Given the description of an element on the screen output the (x, y) to click on. 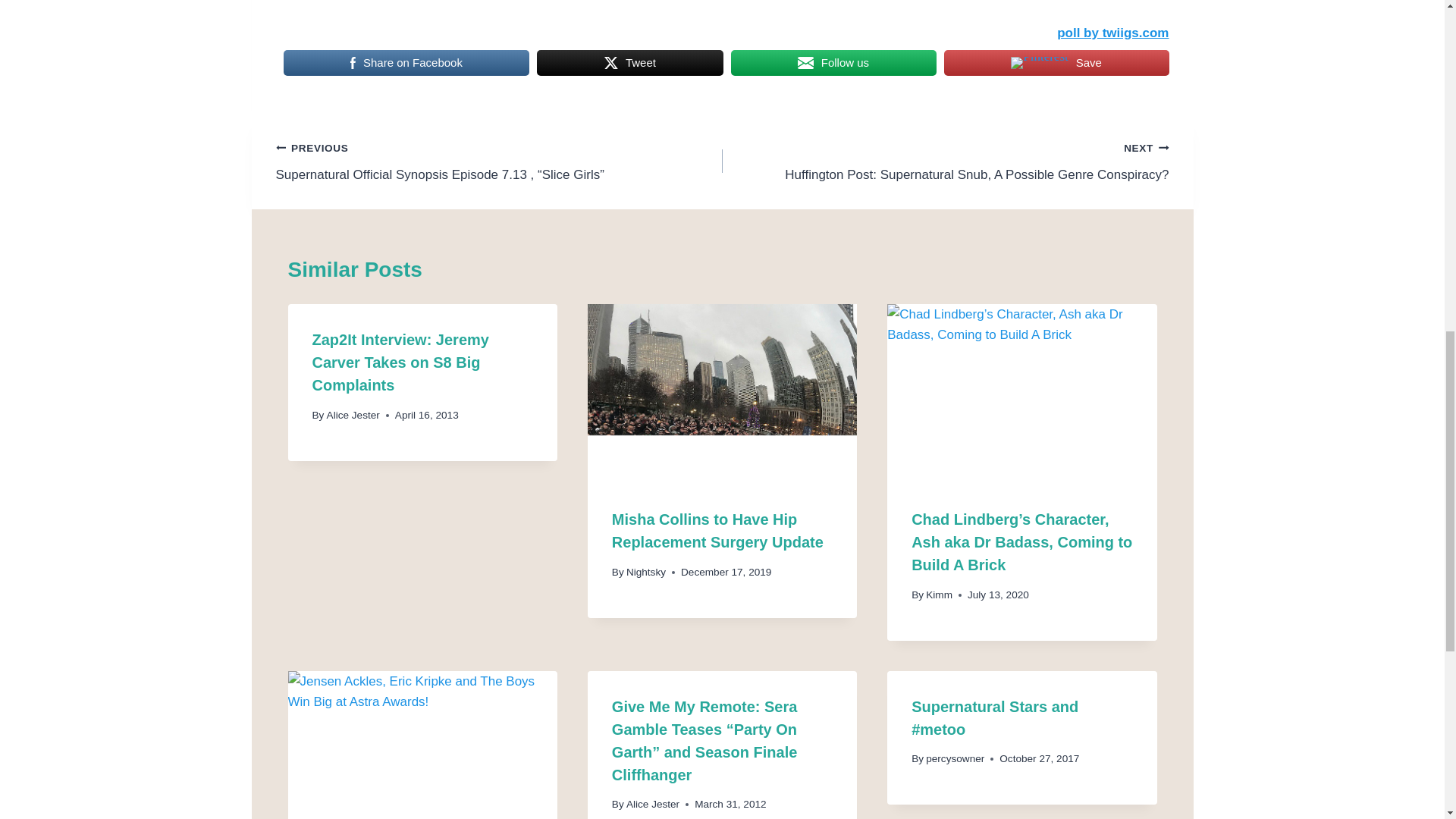
Share on Facebook (406, 62)
Save (1056, 62)
poll by twiigs.com (1113, 32)
Follow us (833, 62)
Tweet (629, 62)
Zap2It Interview: Jeremy Carver Takes on S8 Big Complaints (401, 362)
